Given the description of an element on the screen output the (x, y) to click on. 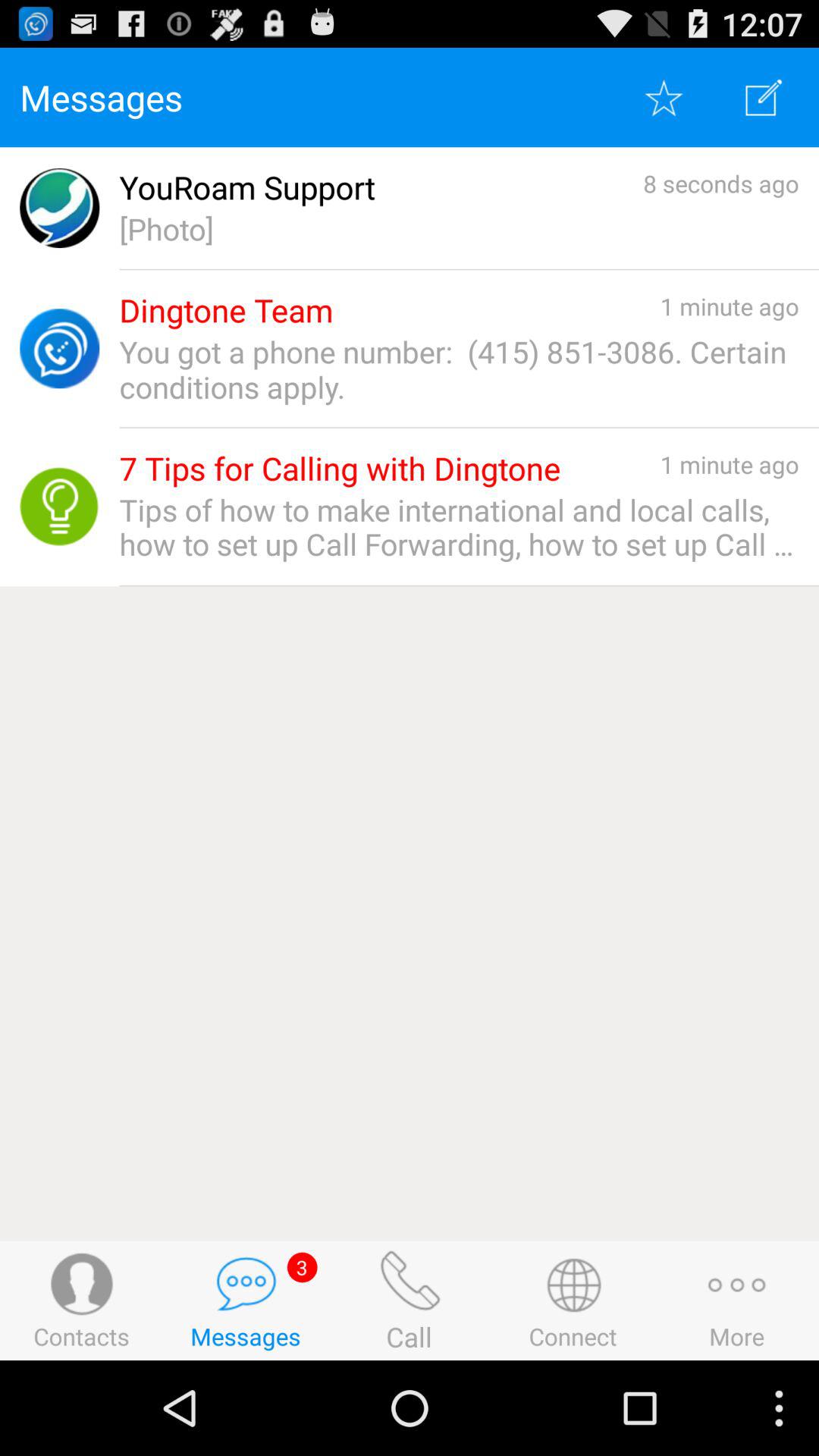
click star (663, 97)
